Given the description of an element on the screen output the (x, y) to click on. 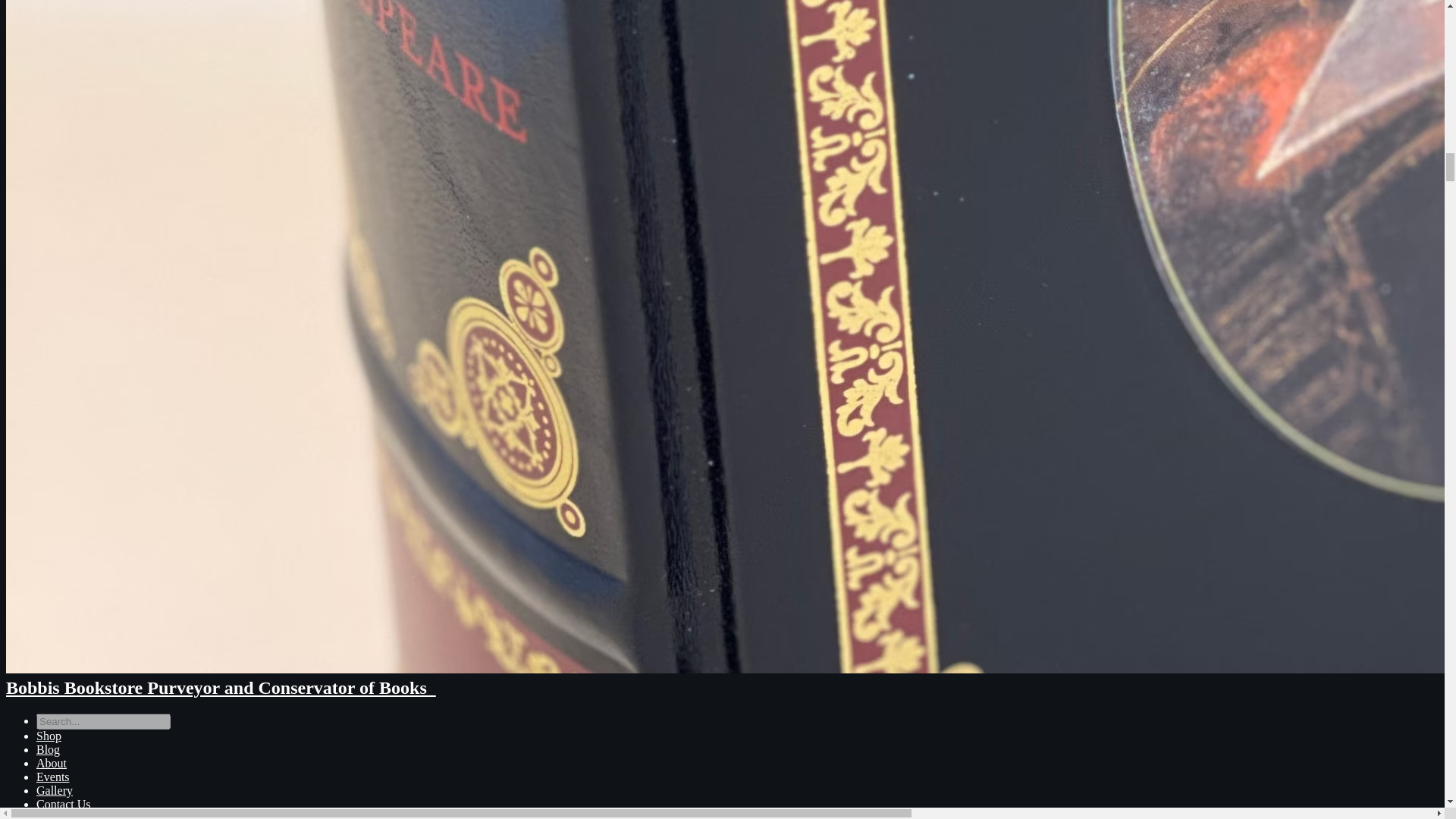
Gallery (54, 789)
Blog (47, 748)
About (51, 762)
Contact Us (63, 803)
Shop (48, 735)
Events (52, 776)
